Given the description of an element on the screen output the (x, y) to click on. 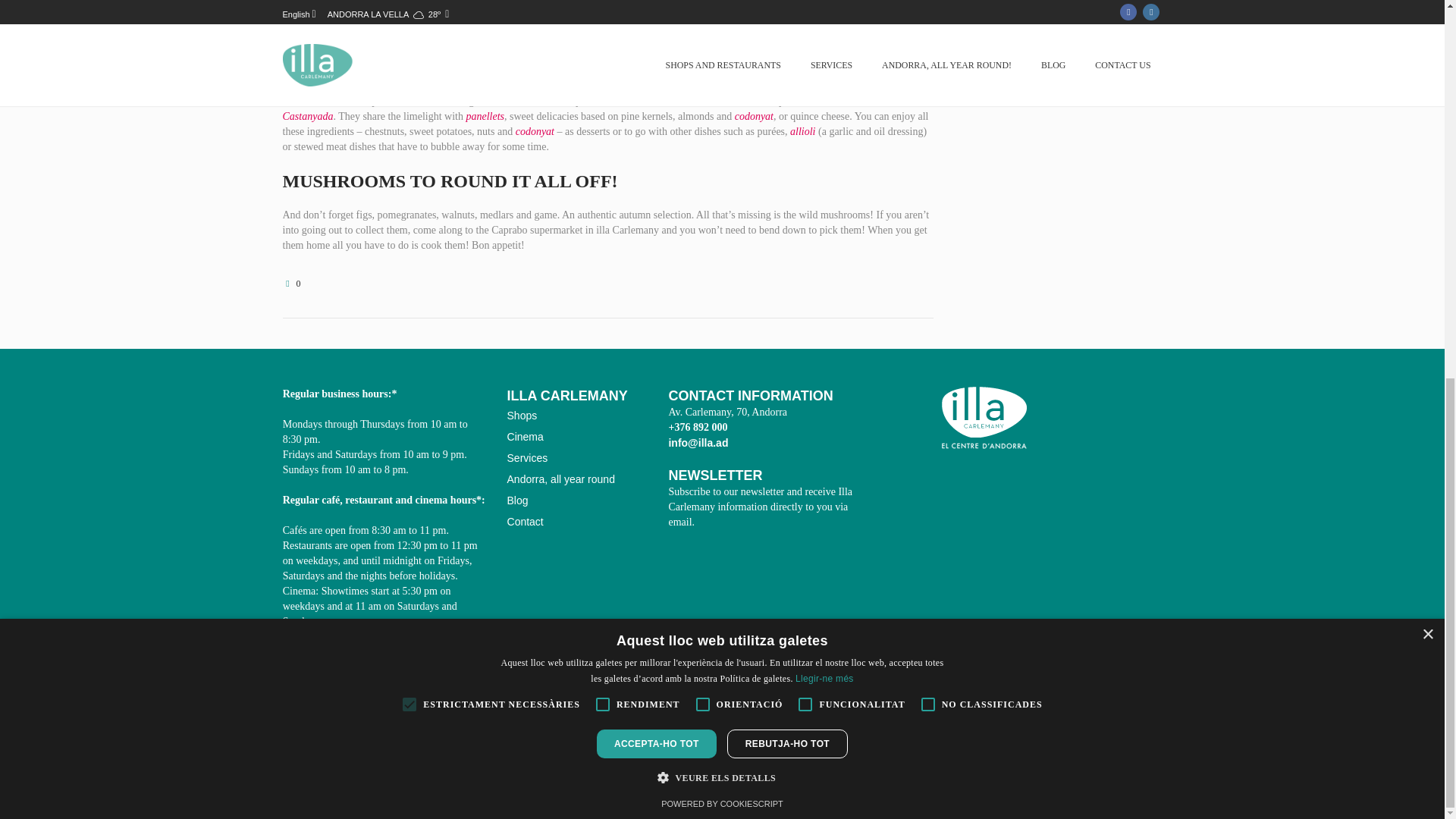
aprabo (802, 39)
0 (290, 283)
